Given the description of an element on the screen output the (x, y) to click on. 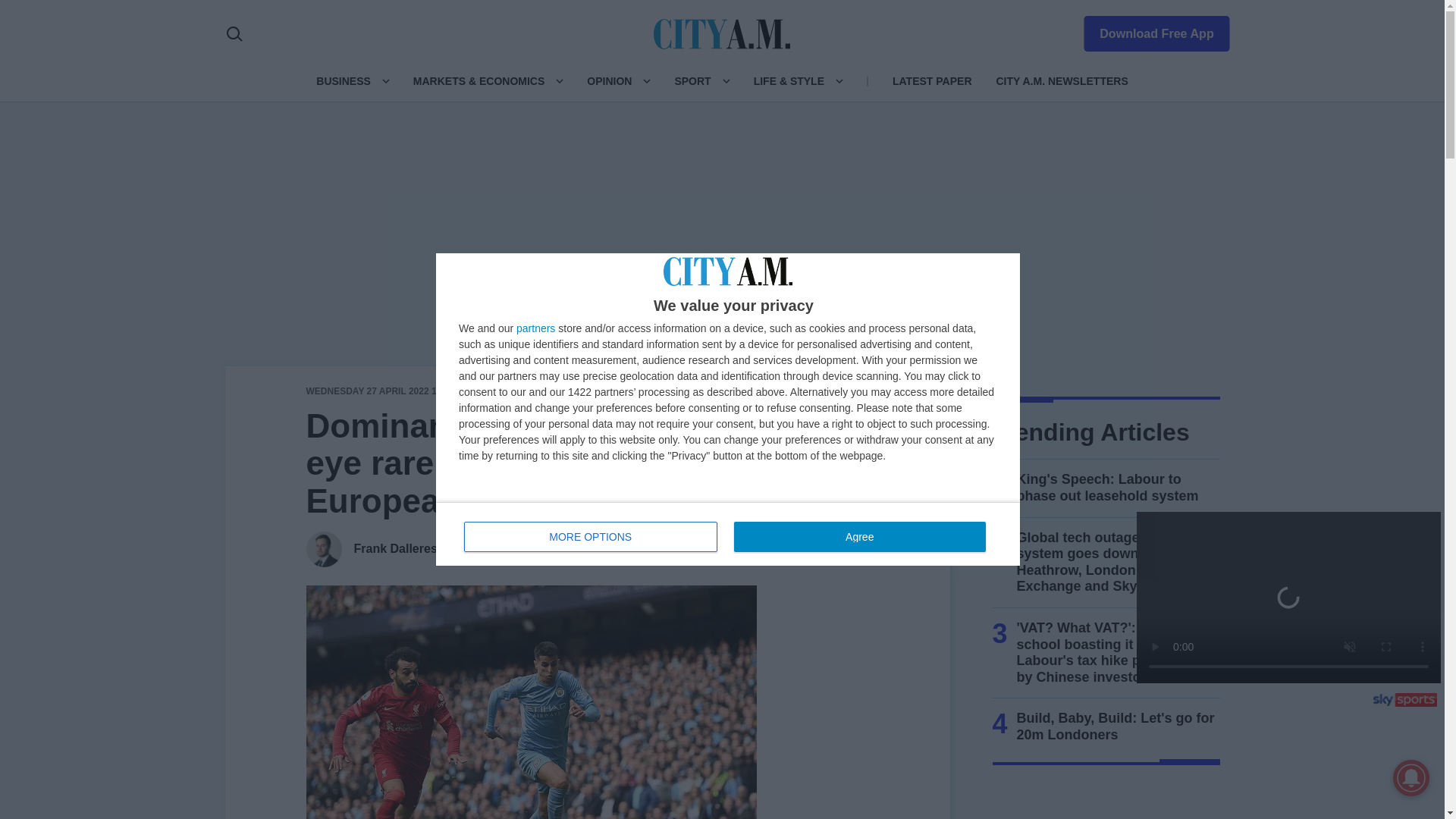
MORE OPTIONS (590, 536)
partners (535, 327)
CityAM (721, 33)
BUSINESS (343, 80)
Download Free App (727, 533)
Agree (1146, 30)
